Given the description of an element on the screen output the (x, y) to click on. 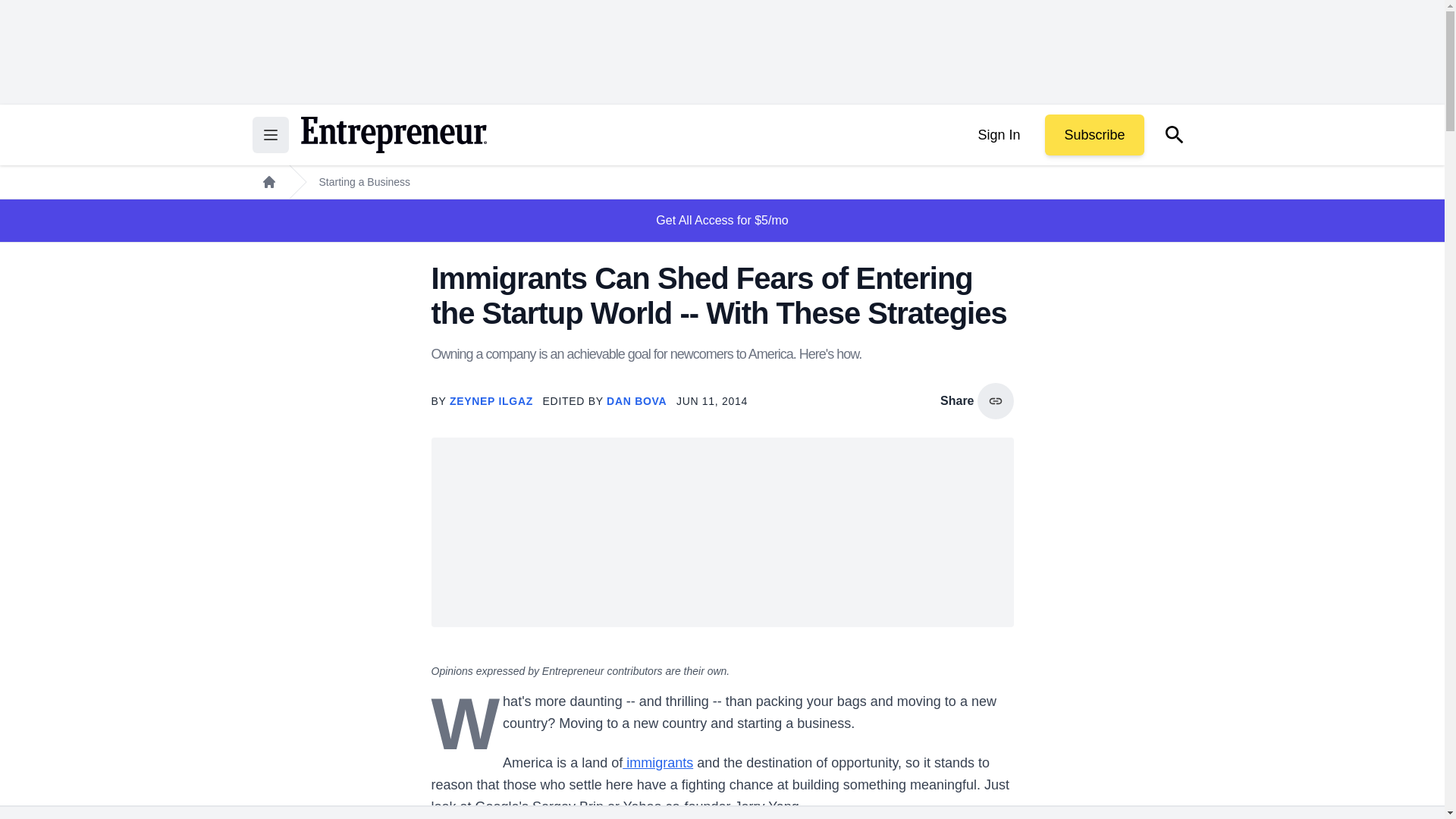
copy (994, 401)
Return to the home page (392, 135)
Subscribe (1093, 134)
Sign In (998, 134)
